Given the description of an element on the screen output the (x, y) to click on. 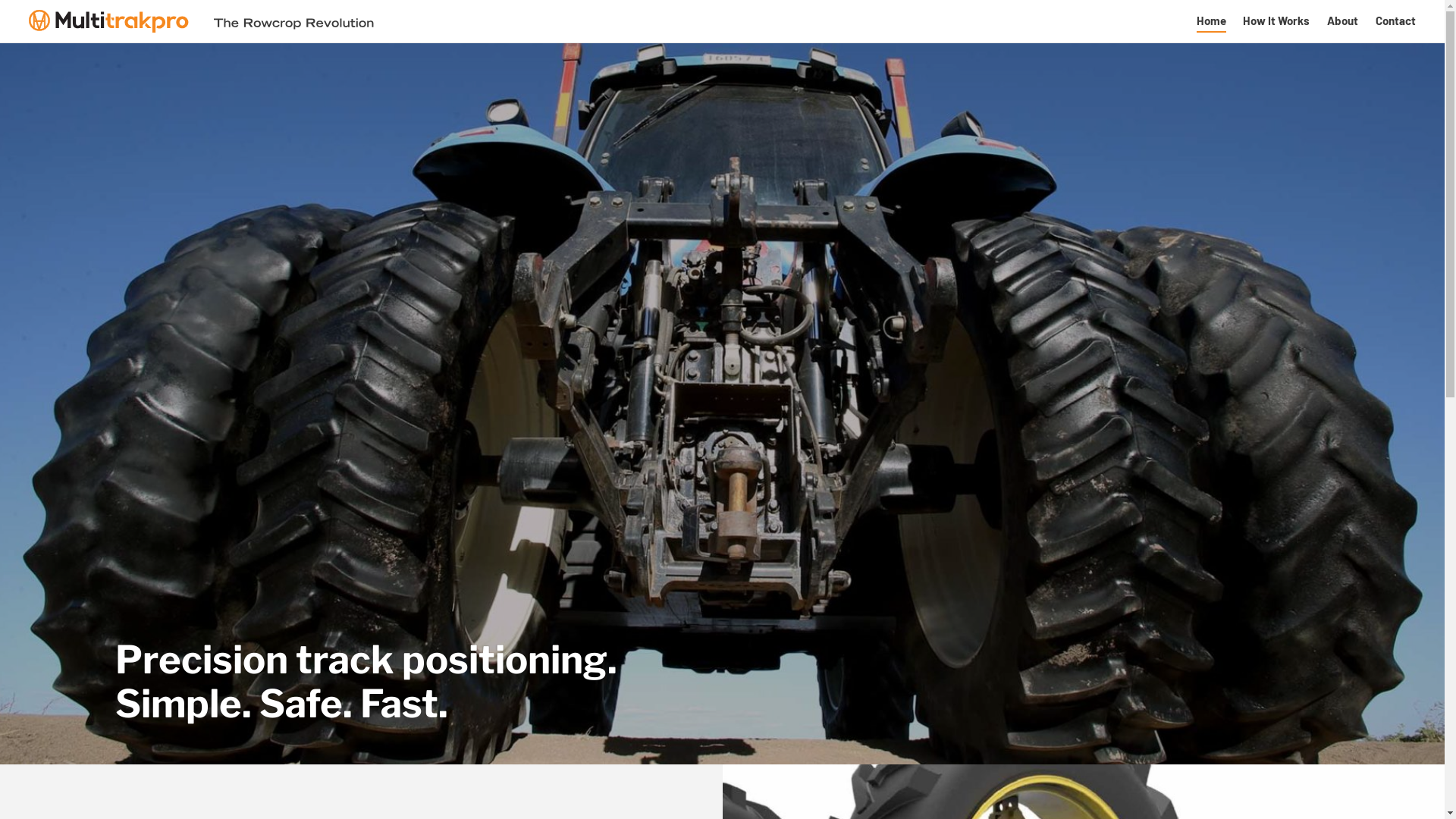
About Element type: text (1342, 20)
Contact Element type: text (1395, 20)
Home Element type: text (1211, 20)
How It Works Element type: text (1275, 20)
